Given the description of an element on the screen output the (x, y) to click on. 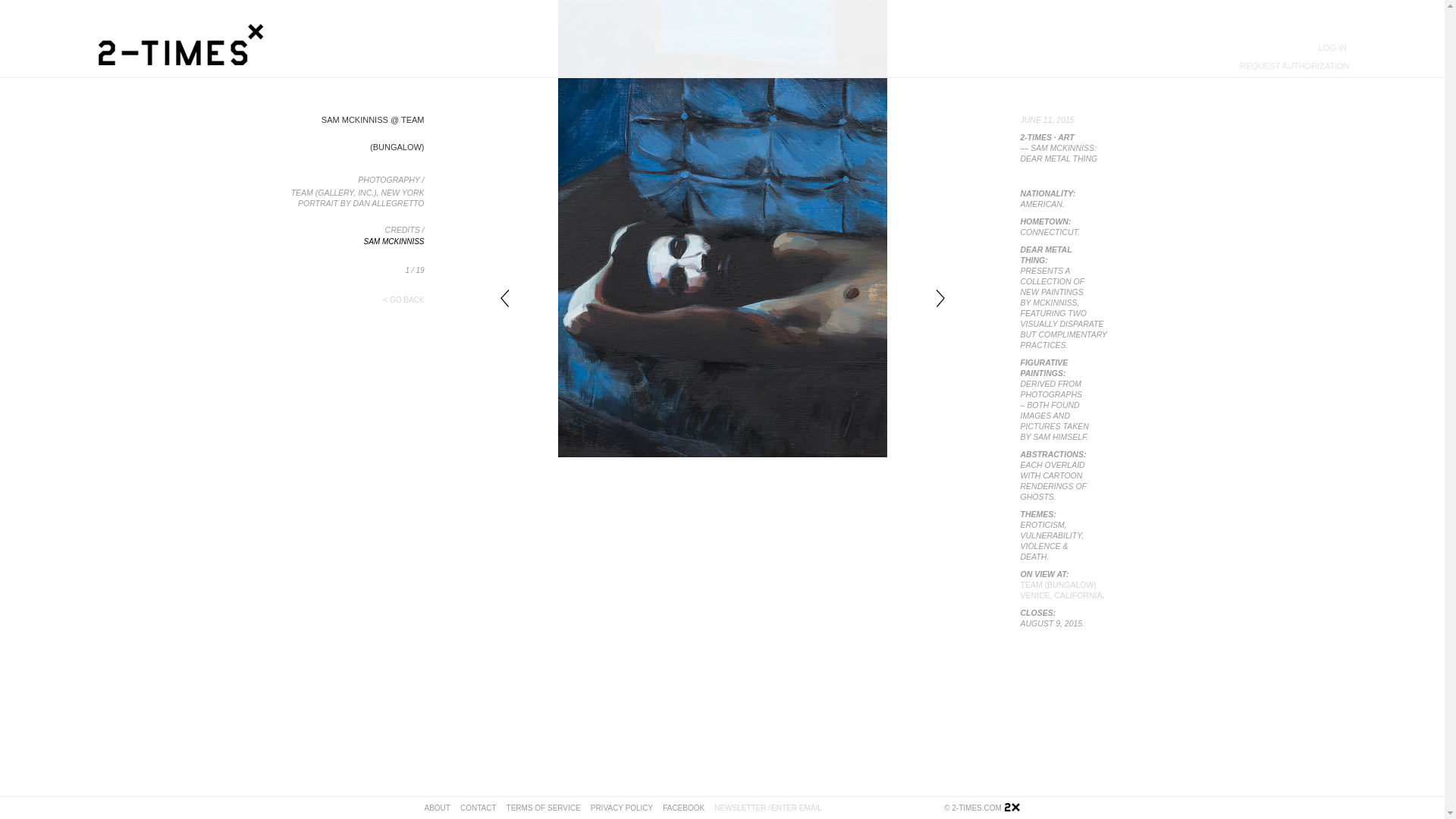
DAN ALLEGRETTO Element type: text (388, 202)
HOME Element type: text (1015, 807)
ABOUT Element type: text (442, 807)
CONTACT Element type: text (483, 807)
TEAM (BUNGALOW)
VENICE, CALIFORNIA Element type: text (1061, 589)
TEAM (GALLERY, INC.), NEW YORK Element type: text (357, 192)
< GO BACK Element type: text (402, 299)
TERMS OF SERVICE Element type: text (548, 807)
SAM MCKINNISS Element type: text (393, 241)
FACEBOOK Element type: text (688, 807)
PRIVACY POLICY Element type: text (626, 807)
